Given the description of an element on the screen output the (x, y) to click on. 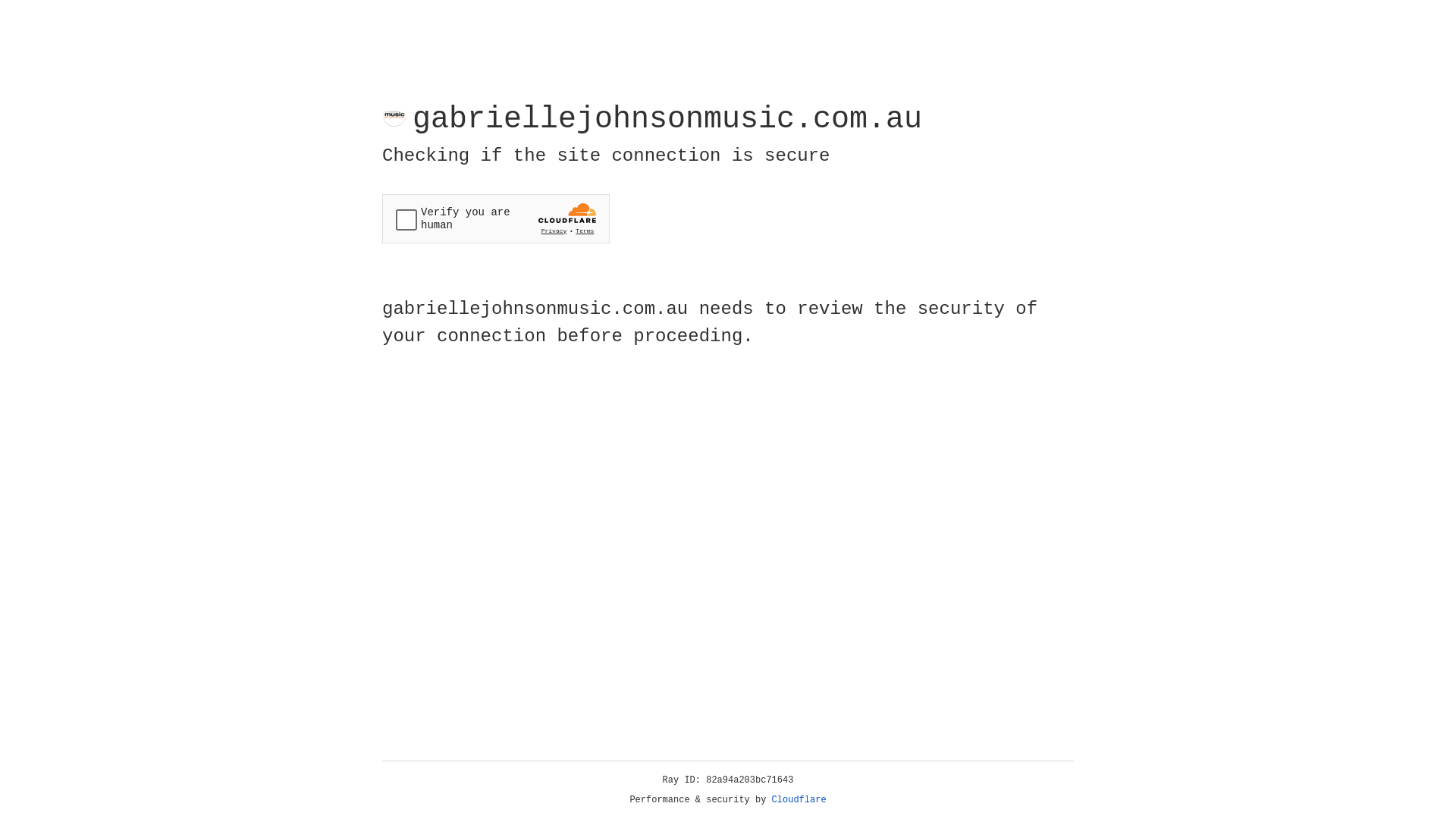
Cloudflare Element type: text (798, 799)
Widget containing a Cloudflare security challenge Element type: hover (495, 218)
